Given the description of an element on the screen output the (x, y) to click on. 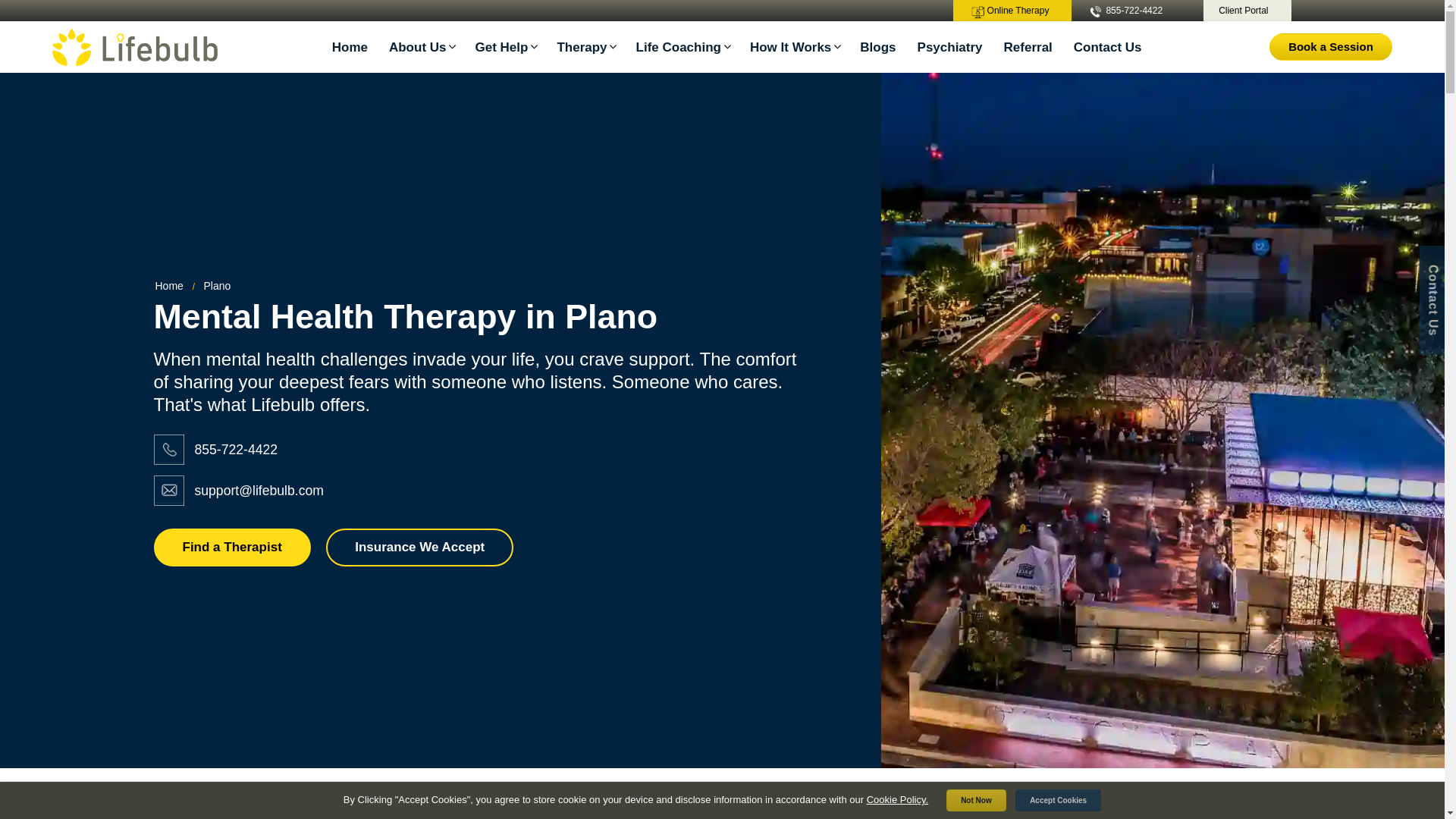
855-722-4422 (1133, 11)
Client Portal (1247, 11)
Online Therapy (1012, 11)
